Given the description of an element on the screen output the (x, y) to click on. 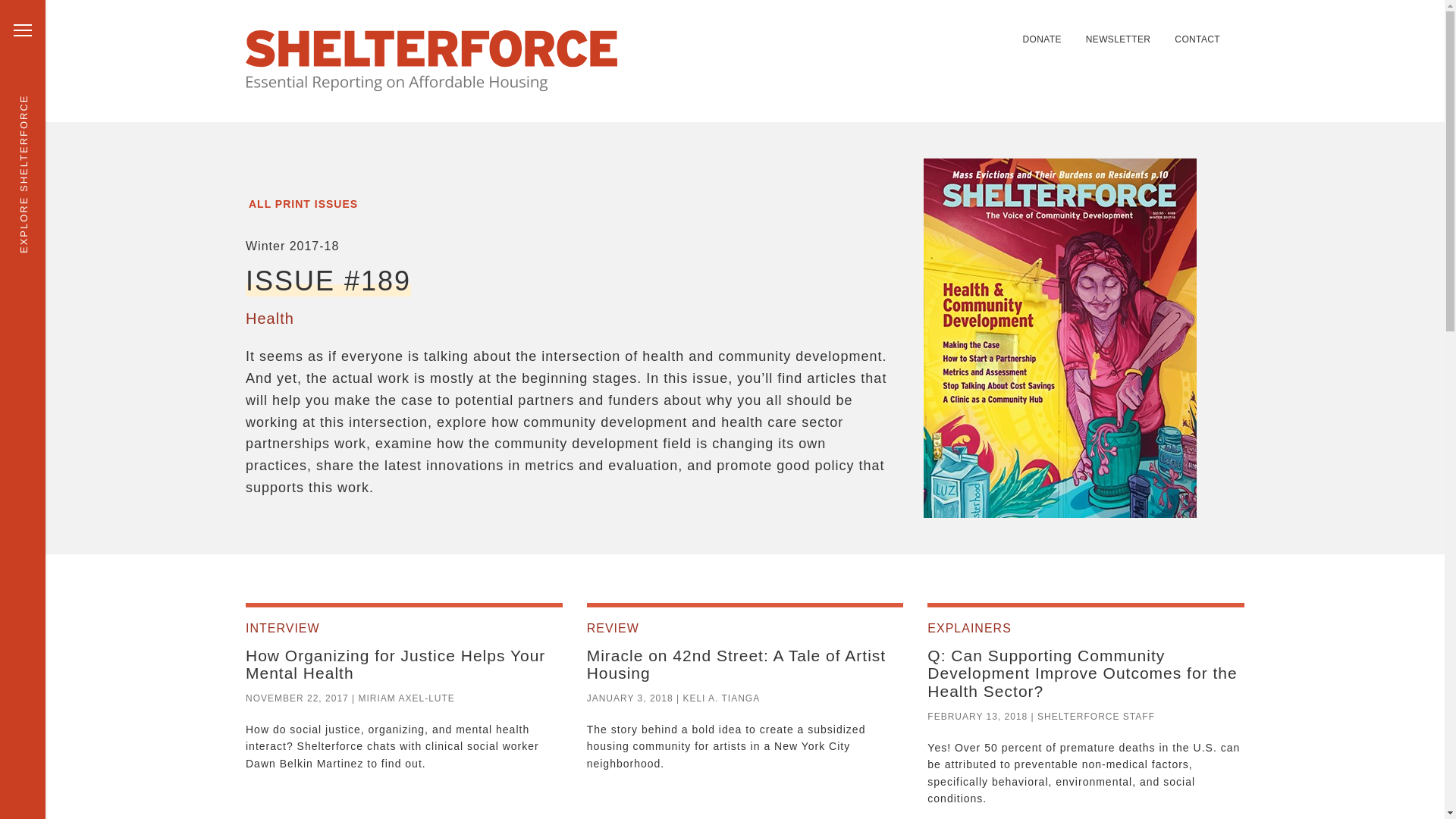
Follow us on YouTube (988, 30)
Follow us on Spotify (951, 30)
CONTACT (1197, 39)
Follow us on LinkedIn (915, 30)
Shelterforce (431, 60)
DONATE (1041, 39)
Follow us on Soundcloud (969, 30)
Follow us on Twitter (897, 30)
Follow us on Facebook (933, 30)
NEWSLETTER (1118, 39)
